Given the description of an element on the screen output the (x, y) to click on. 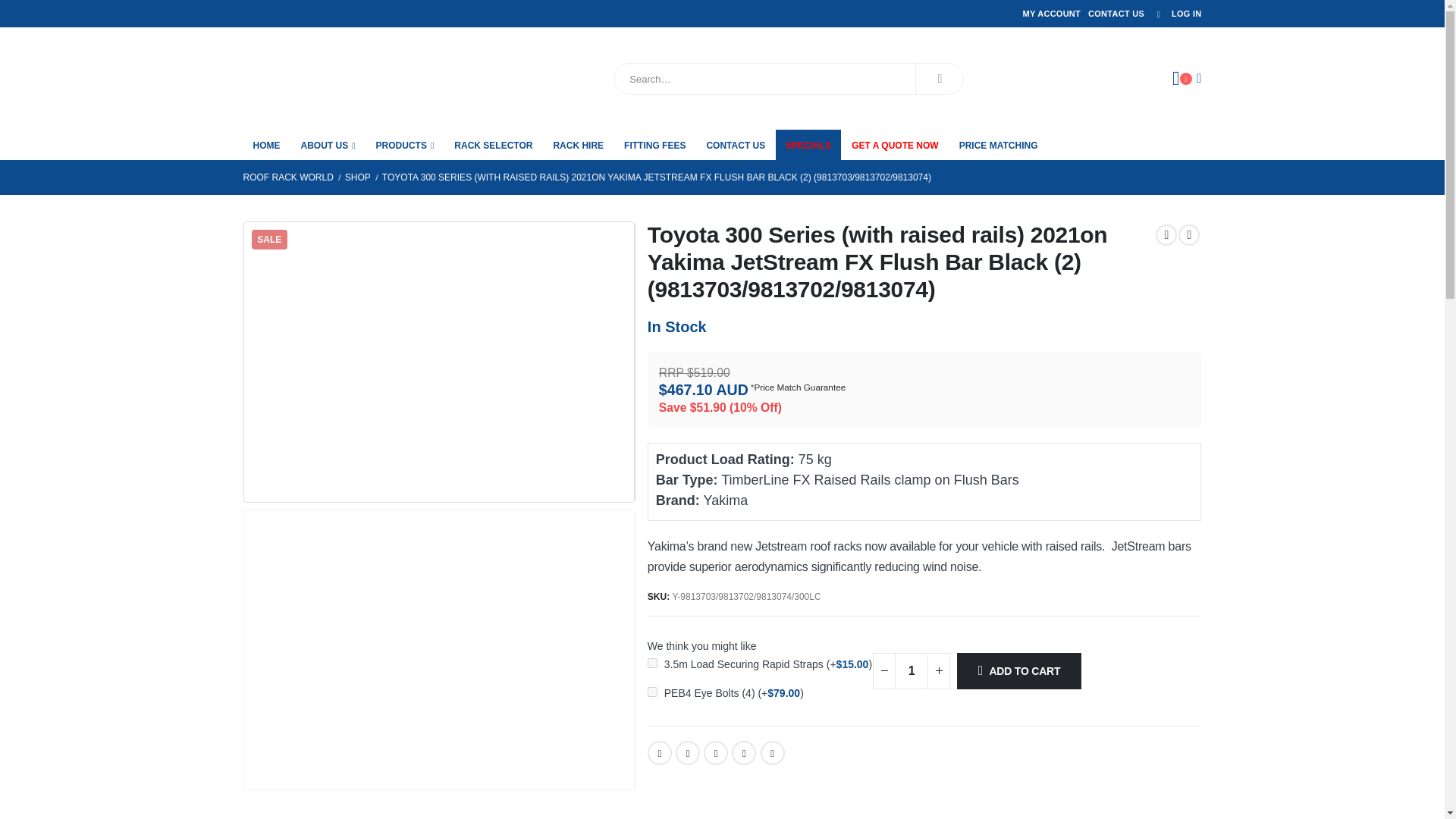
ABOUT US (328, 144)
HOME (266, 144)
MY ACCOUNT (1050, 13)
Twitter (687, 752)
PRODUCTS (405, 144)
timberlinefxyakimarailmountroofrackworldsa (438, 360)
Email (772, 752)
LOG IN (1174, 13)
Roof Rack World - SA's largest collection of roofracks (328, 78)
1 (911, 670)
peb4-eye-bolts-4 (652, 691)
Search (938, 78)
Facebook (659, 752)
LinkedIn (715, 752)
3-5m-load-securing-rapid-straps (652, 663)
